Given the description of an element on the screen output the (x, y) to click on. 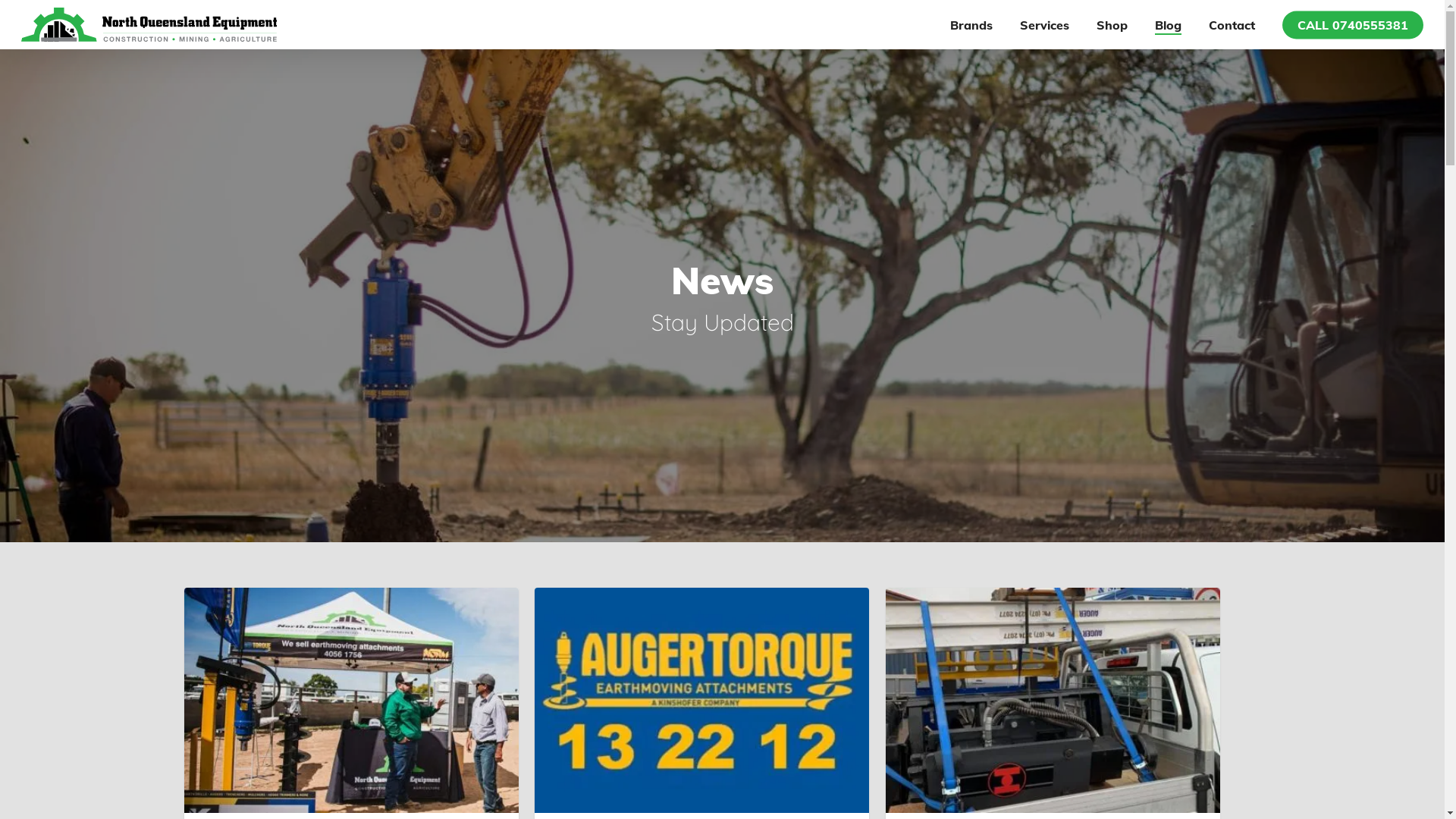
Services Element type: text (1044, 23)
Brands Element type: text (971, 23)
Blog Element type: text (1167, 23)
Shop Element type: text (1111, 23)
Contact Element type: text (1231, 23)
CALL 0740555381 Element type: text (1352, 23)
